Given the description of an element on the screen output the (x, y) to click on. 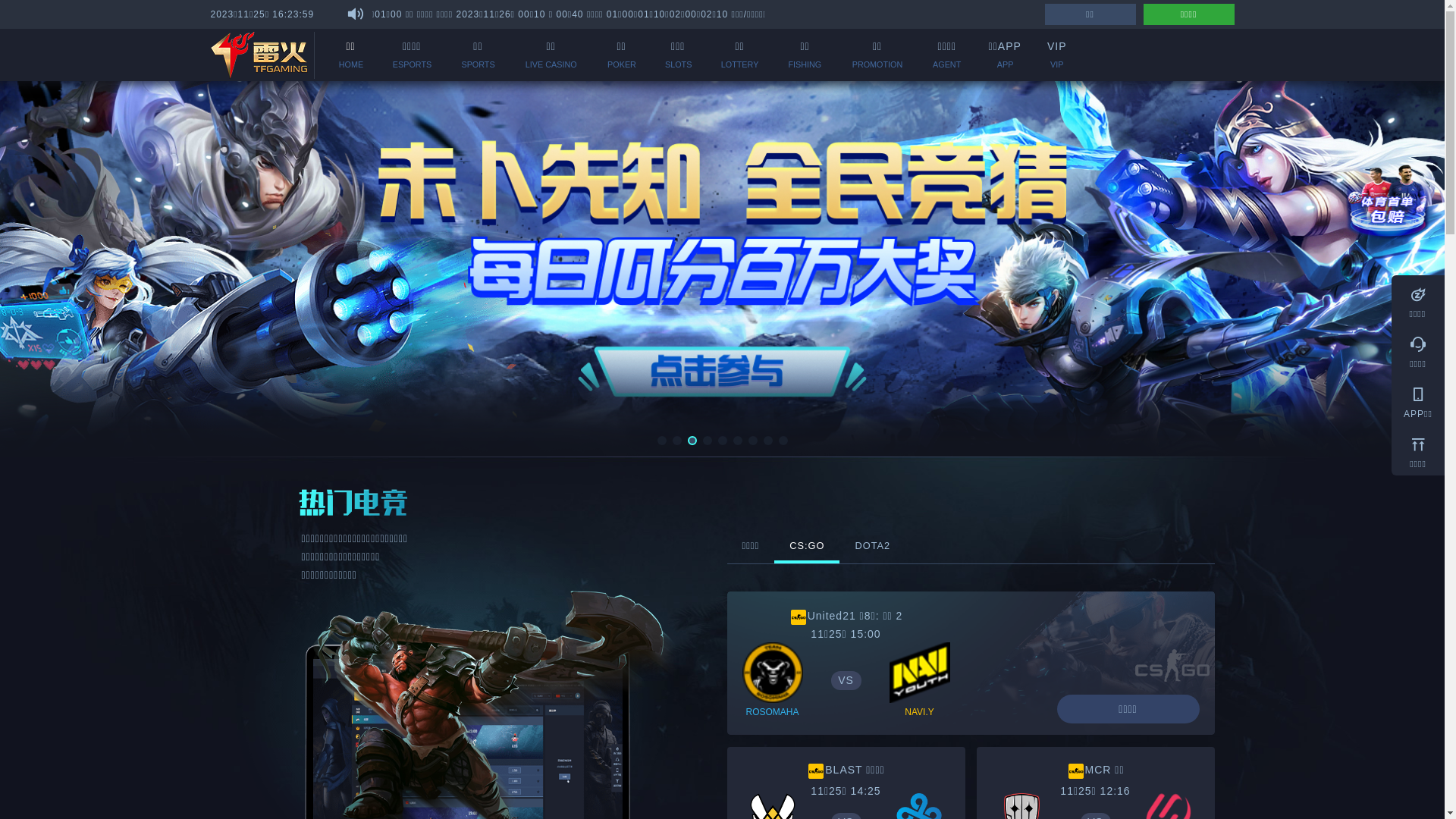
DOTA2 Element type: text (872, 545)
VIP
VIP Element type: text (1056, 54)
CS:GO Element type: text (806, 546)
